Given the description of an element on the screen output the (x, y) to click on. 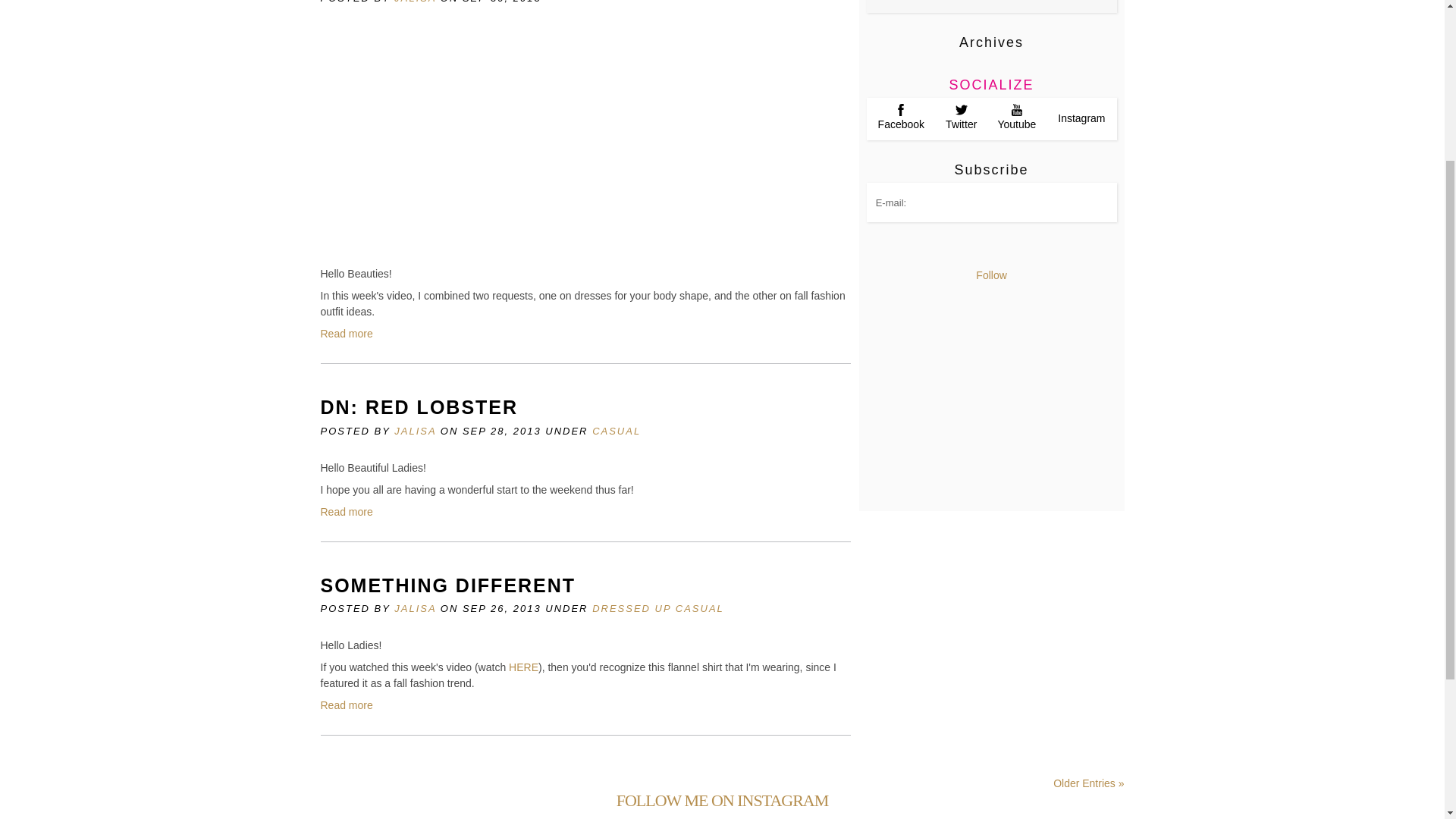
DRESSED UP CASUAL (657, 608)
Views posts by Category Casual (616, 430)
DN: RED LOBSTER (419, 406)
SOMETHING DIFFERENT (447, 585)
Read more (346, 511)
JALISA (414, 2)
Views posts by Category Dressed Up Casual (657, 608)
Read more (346, 333)
Read more (346, 705)
JALISA (414, 430)
